Given the description of an element on the screen output the (x, y) to click on. 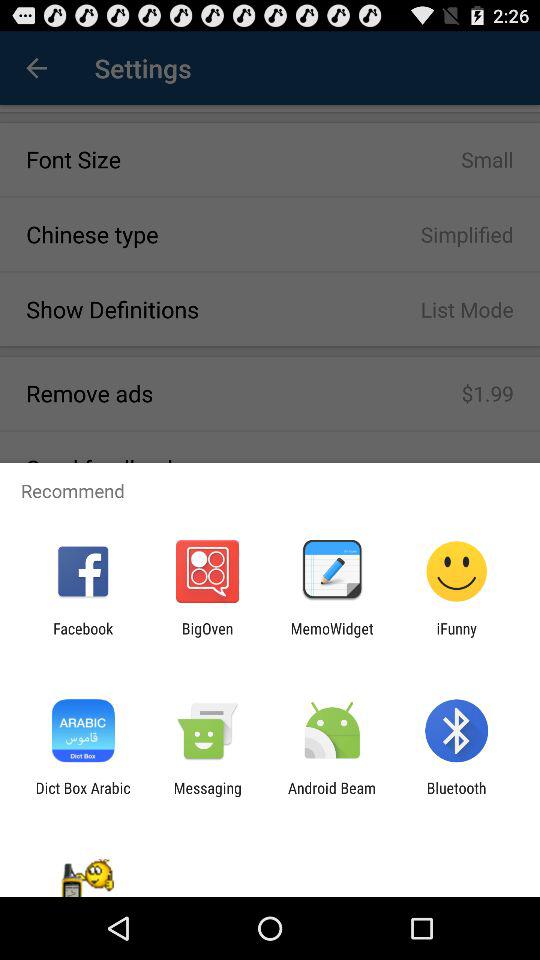
scroll to bigoven icon (207, 637)
